Given the description of an element on the screen output the (x, y) to click on. 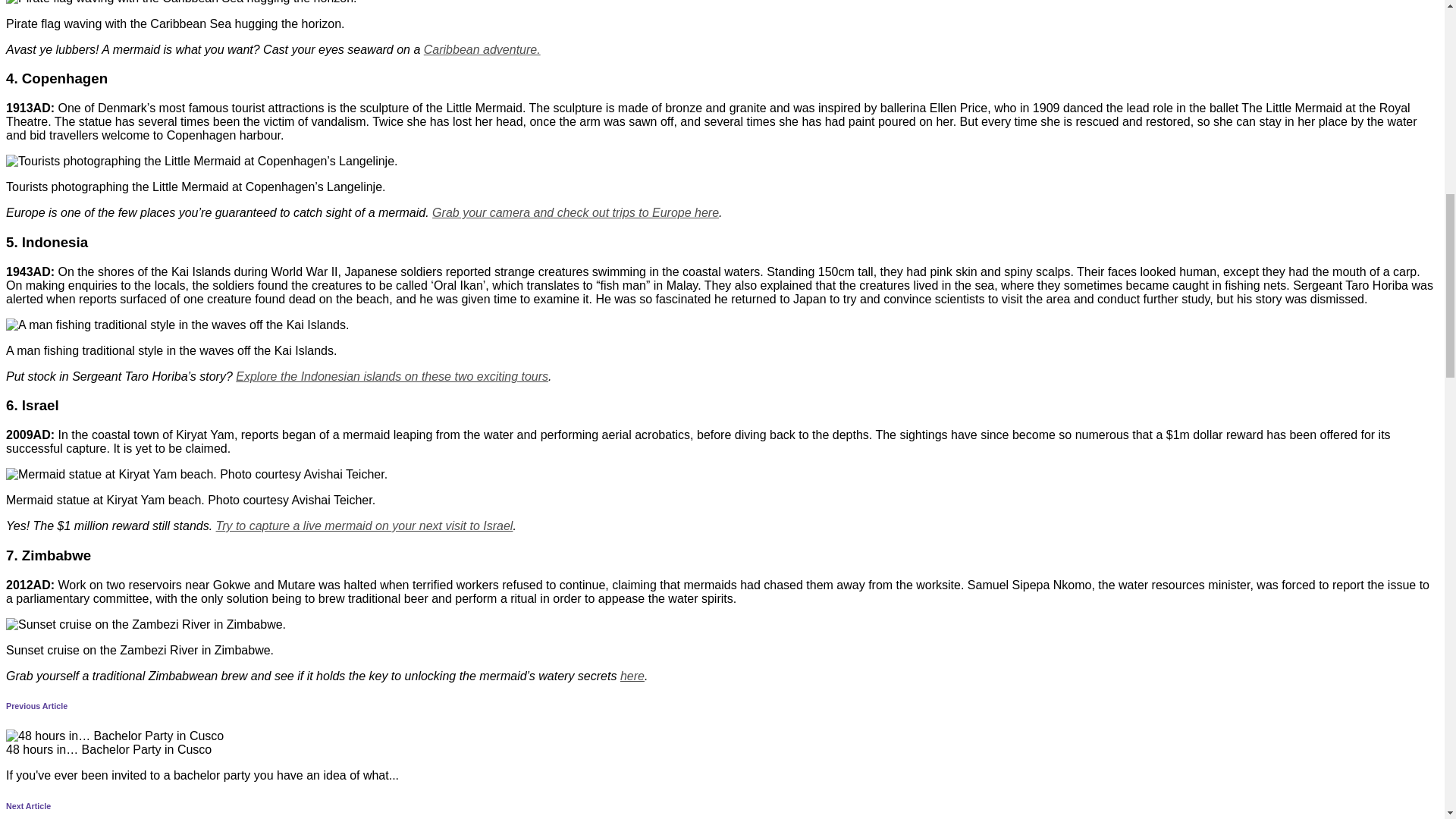
Grab your camera and check out trips to Europe here (575, 212)
Try to capture a live mermaid on your next visit to Israel (364, 525)
here (632, 675)
Explore the Indonesian islands on these two exciting tours (391, 376)
Caribbean adventure. (481, 49)
